Given the description of an element on the screen output the (x, y) to click on. 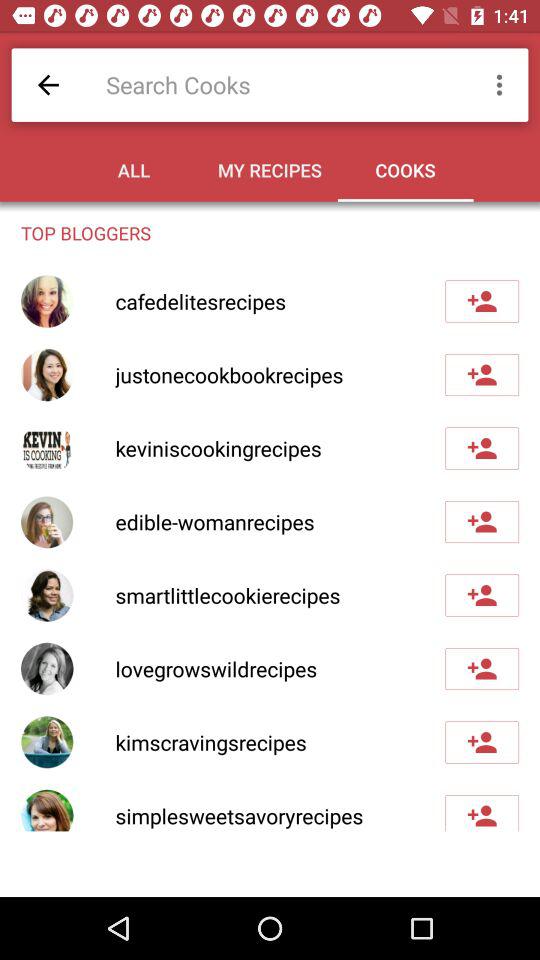
add blogger (482, 595)
